Given the description of an element on the screen output the (x, y) to click on. 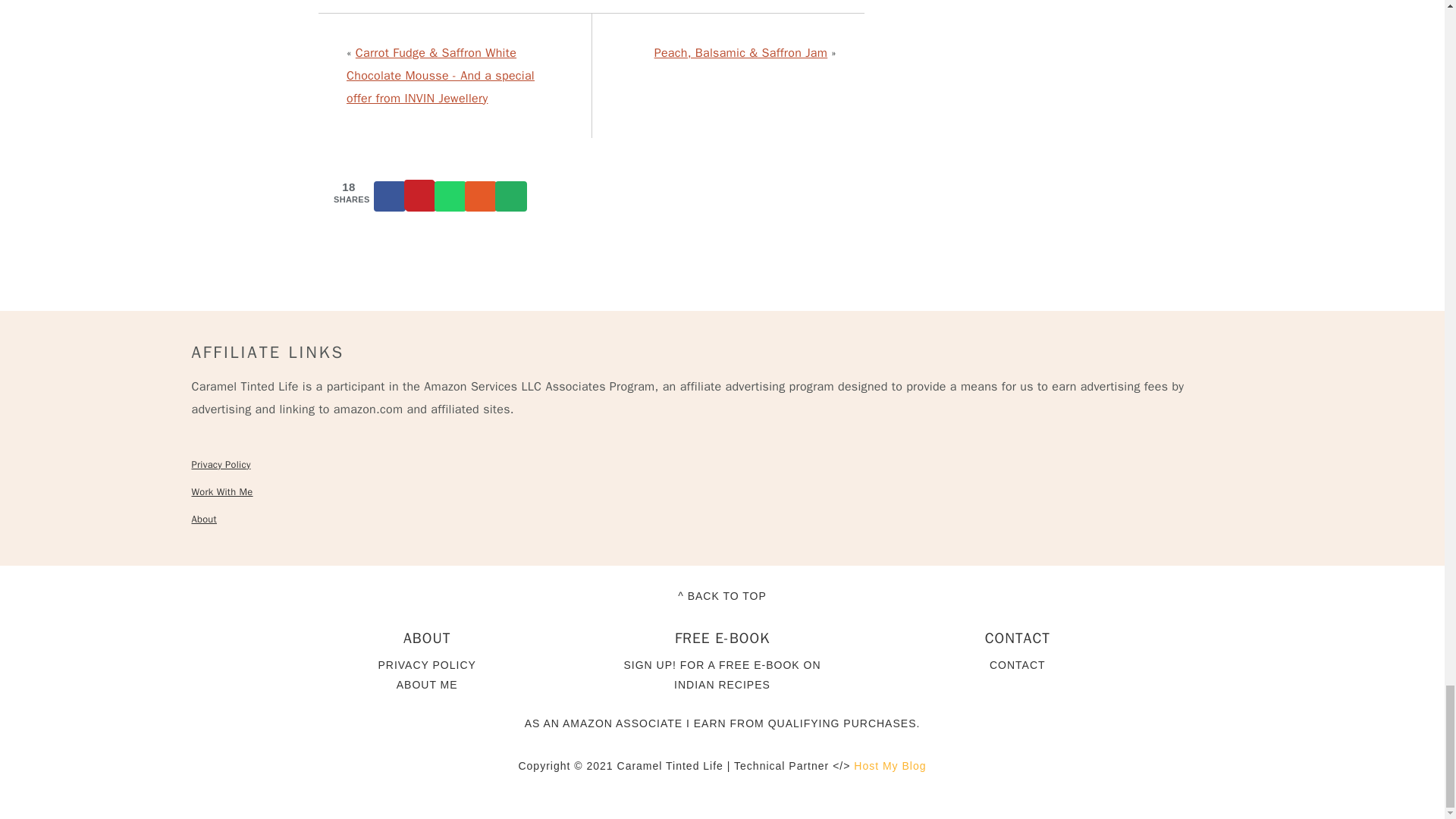
Save to Pinterest (420, 195)
Share on Facebook (390, 195)
Share on WhatsApp (450, 195)
Share on Yummly (480, 195)
Send over email (511, 195)
